Given the description of an element on the screen output the (x, y) to click on. 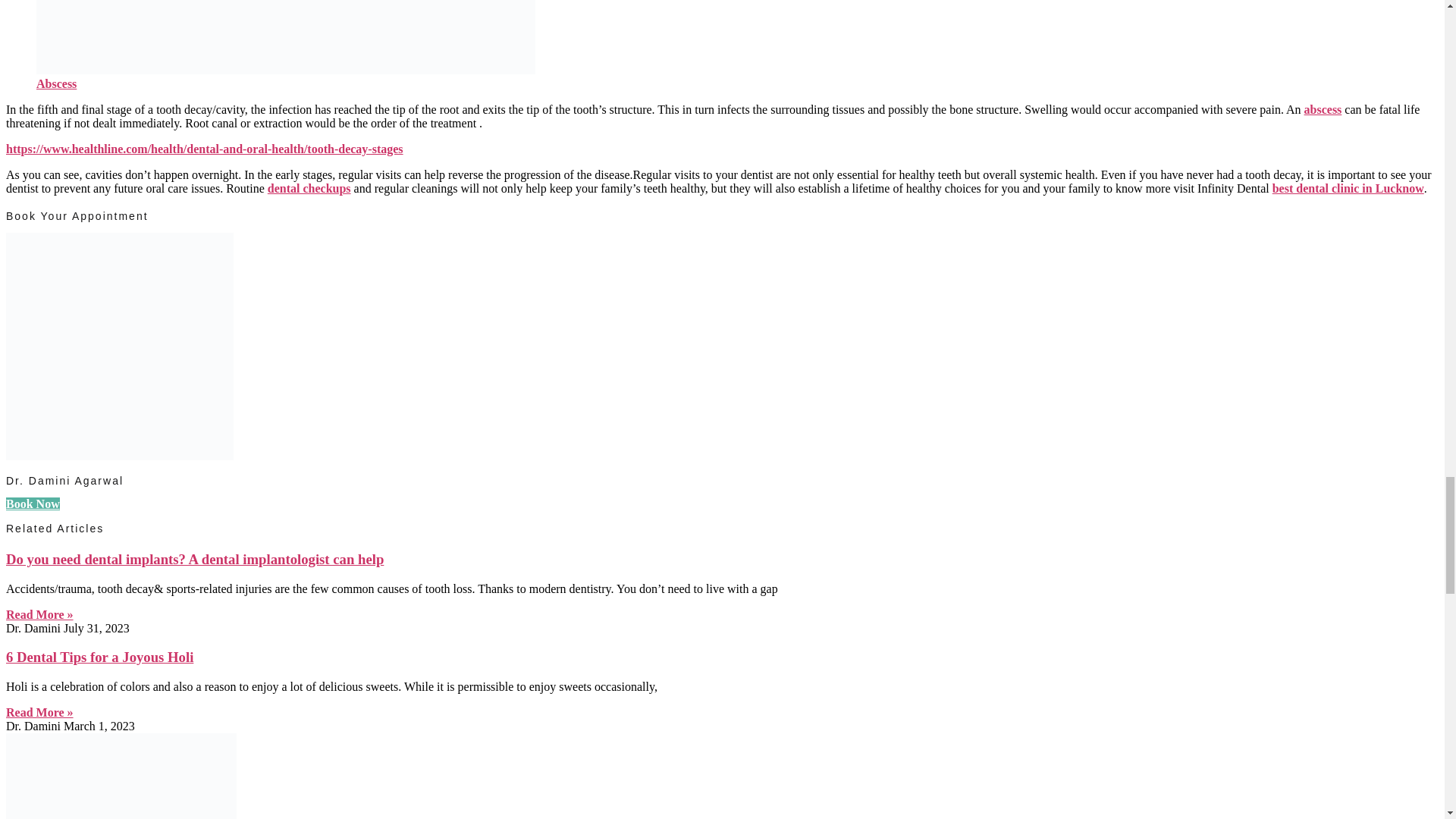
Abscess (56, 83)
dental checkups (308, 187)
6 Dental Tips for a Joyous Holi (99, 657)
Book Now (32, 503)
abscess (1323, 109)
best dental clinic in Lucknow (1347, 187)
